Given the description of an element on the screen output the (x, y) to click on. 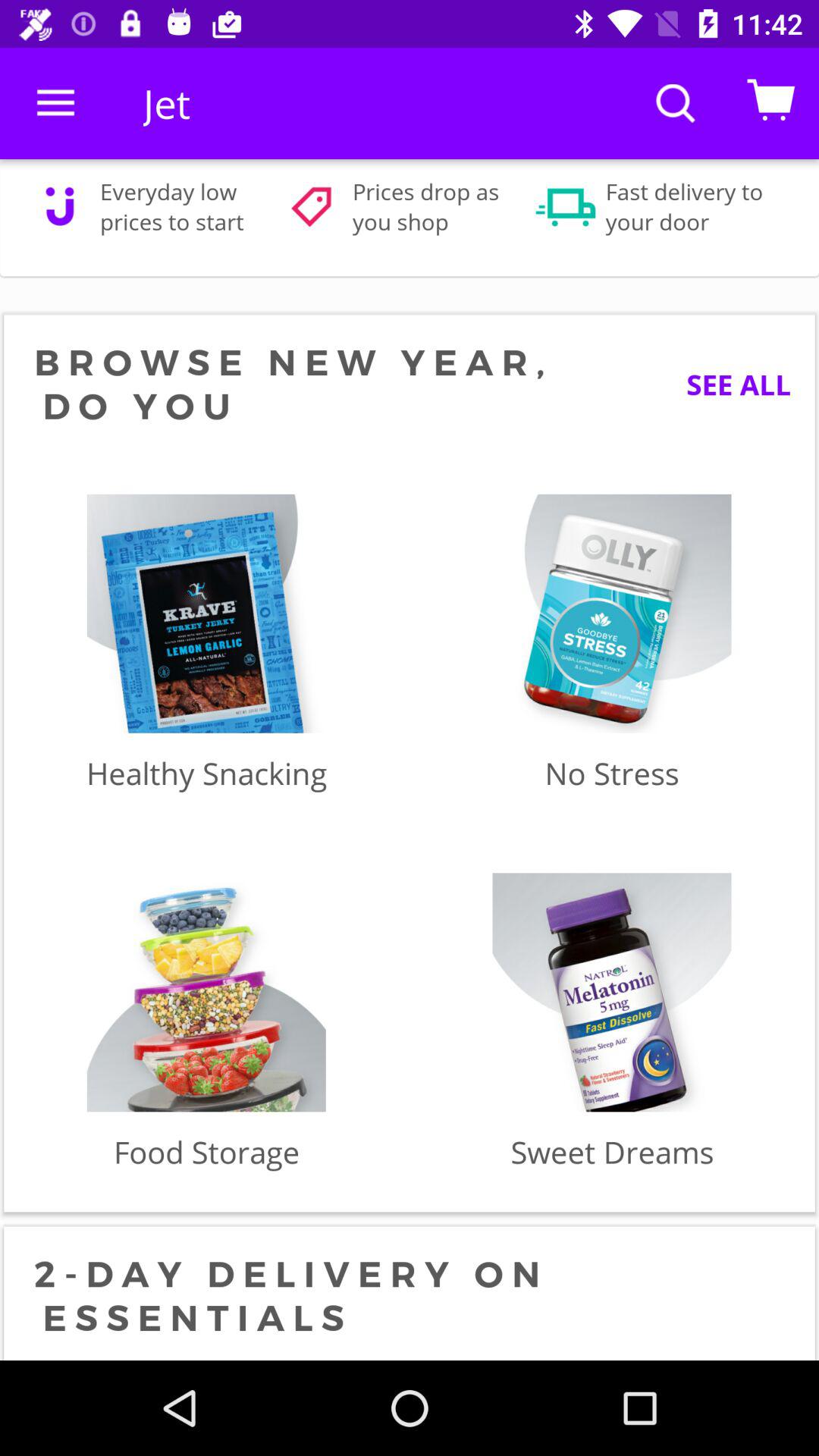
turn off the item to the left of jet (55, 103)
